Given the description of an element on the screen output the (x, y) to click on. 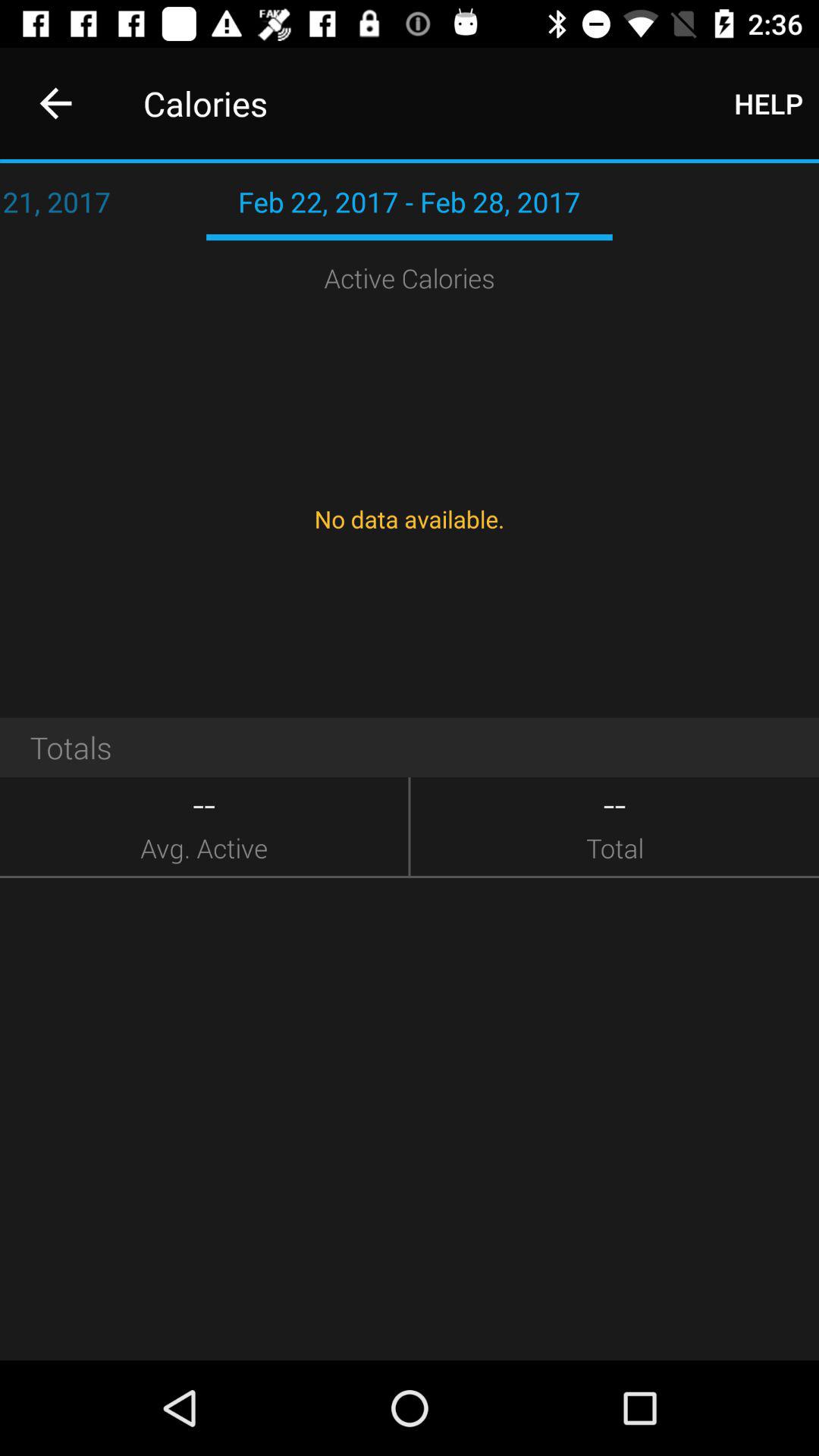
turn on the item to the right of calories item (768, 103)
